Given the description of an element on the screen output the (x, y) to click on. 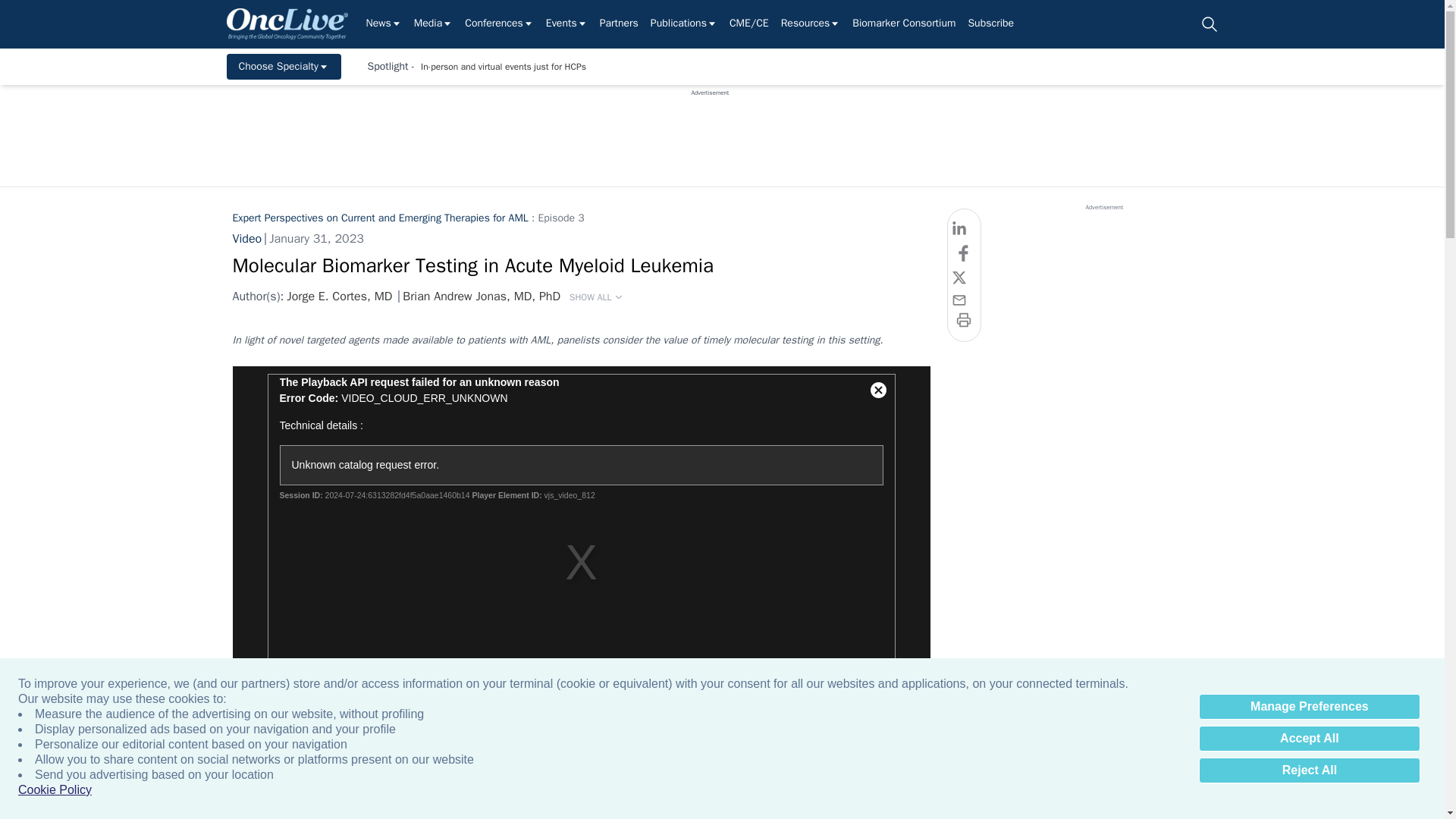
Publications (683, 23)
Partners (619, 23)
Conferences (499, 23)
News (383, 23)
Media (432, 23)
Close Modal Dialog (879, 390)
Accept All (1309, 738)
3rd party ad content (710, 131)
Cookie Policy (54, 789)
Manage Preferences (1309, 706)
Events (567, 23)
Reject All (1309, 769)
